Given the description of an element on the screen output the (x, y) to click on. 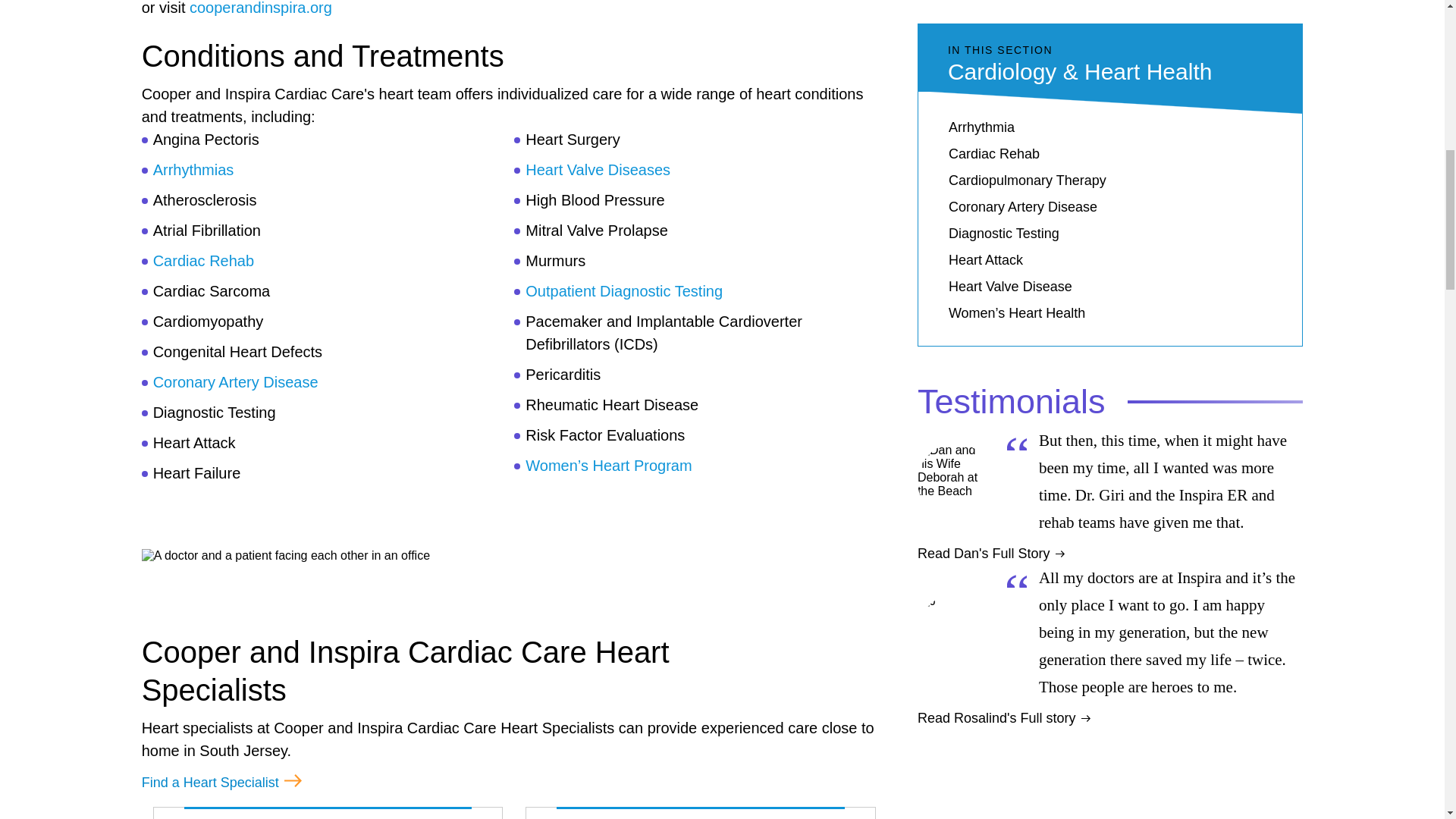
Arrhythmias (193, 169)
Cardiac Rehab (202, 260)
Find a Heart Specialist (221, 782)
Heart Valve Diseases (597, 169)
Coronary Artery Disease (235, 382)
cooperandinspira.org (260, 7)
Outpatient Diagnostic Testing (623, 291)
